Given the description of an element on the screen output the (x, y) to click on. 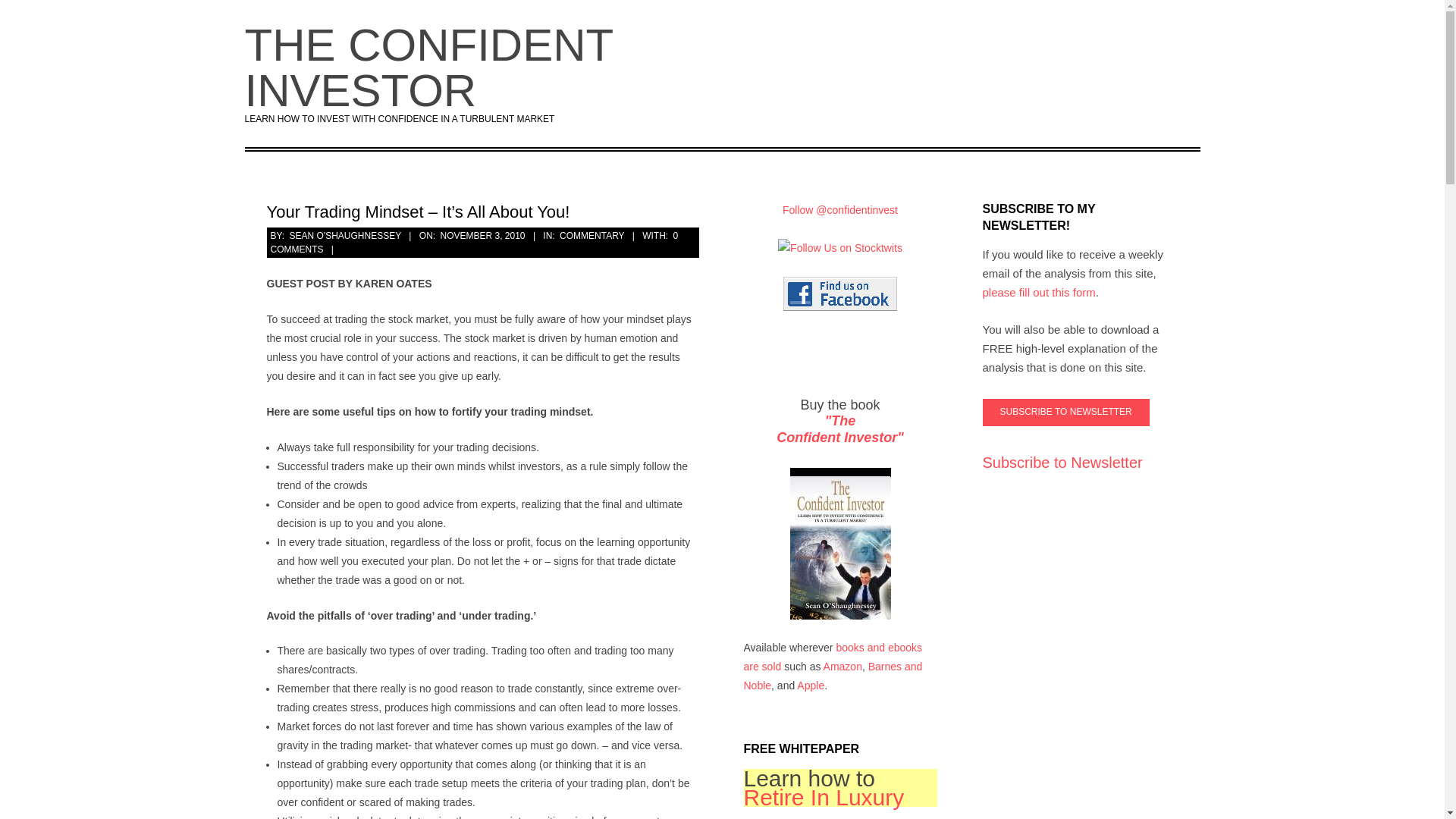
Wednesday, November 3, 2010, 11:44 am (840, 429)
Subscribe to Newsletter (481, 235)
0 COMMENTS (1066, 411)
COMMENTARY (473, 242)
books and ebooks are sold (591, 235)
Retire In Luxury (831, 656)
Posts by Sean O'Shaughnessey (823, 796)
SEAN O'SHAUGHNESSEY (345, 235)
Barnes and Noble (345, 235)
